Given the description of an element on the screen output the (x, y) to click on. 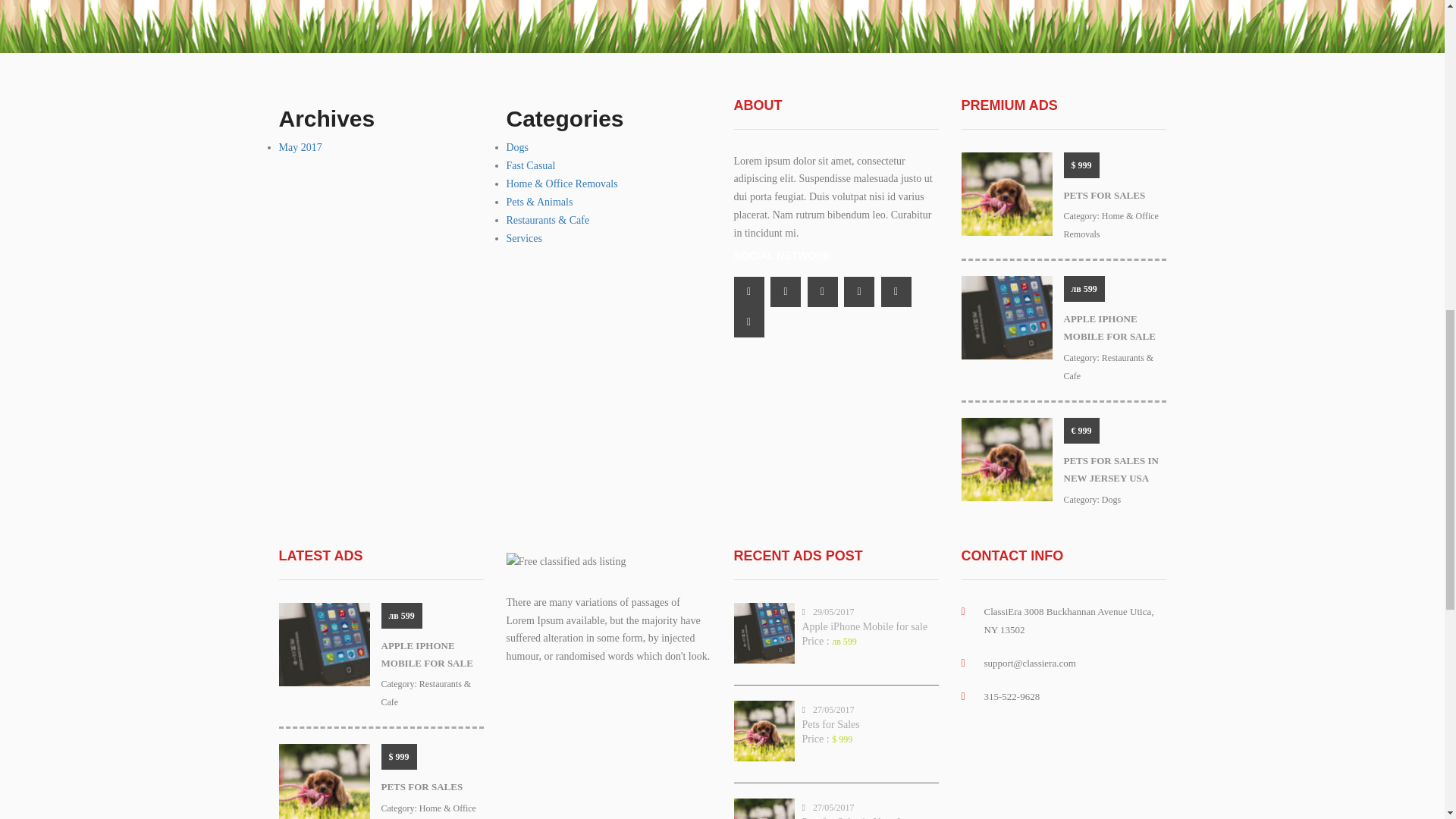
PETS FOR SALES (1103, 194)
Fast Casual (531, 165)
APPLE IPHONE MOBILE FOR SALE (1108, 327)
PETS FOR SALES IN NEW JERSEY USA (1109, 469)
Services (523, 238)
Dogs (1111, 499)
Dogs (517, 147)
May 2017 (300, 147)
